Given the description of an element on the screen output the (x, y) to click on. 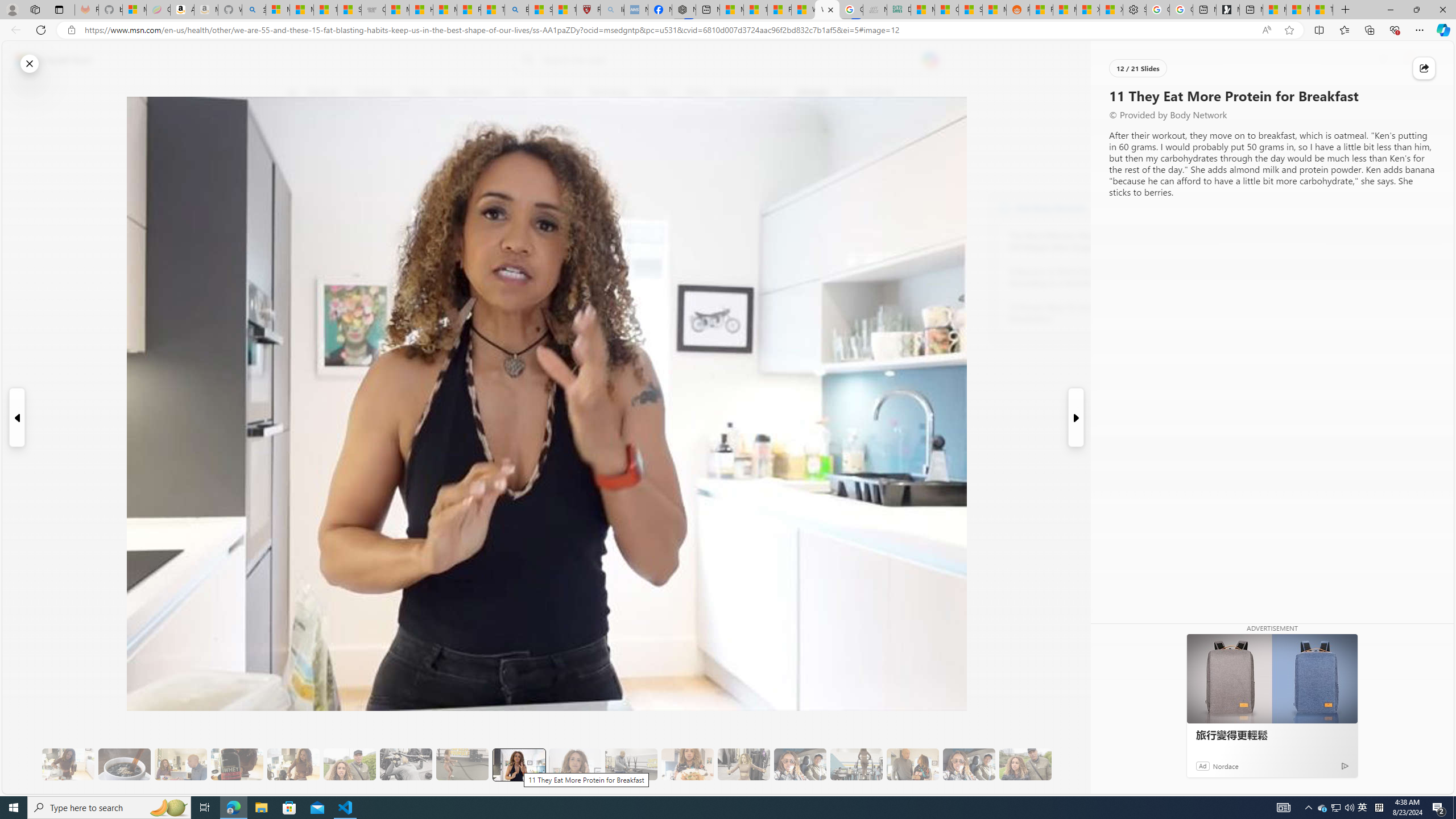
5 She Eats Less Than Her Husband (180, 764)
Class: button-glyph (292, 92)
Entertainment (753, 92)
14 They Have Salmon and Veggies for Dinner (687, 764)
12 Popular Science Lies that Must be Corrected (563, 9)
16 The Couple's Program Helps with Accountability (800, 764)
Recipes - MSN (469, 9)
Share this story (1423, 67)
